Given the description of an element on the screen output the (x, y) to click on. 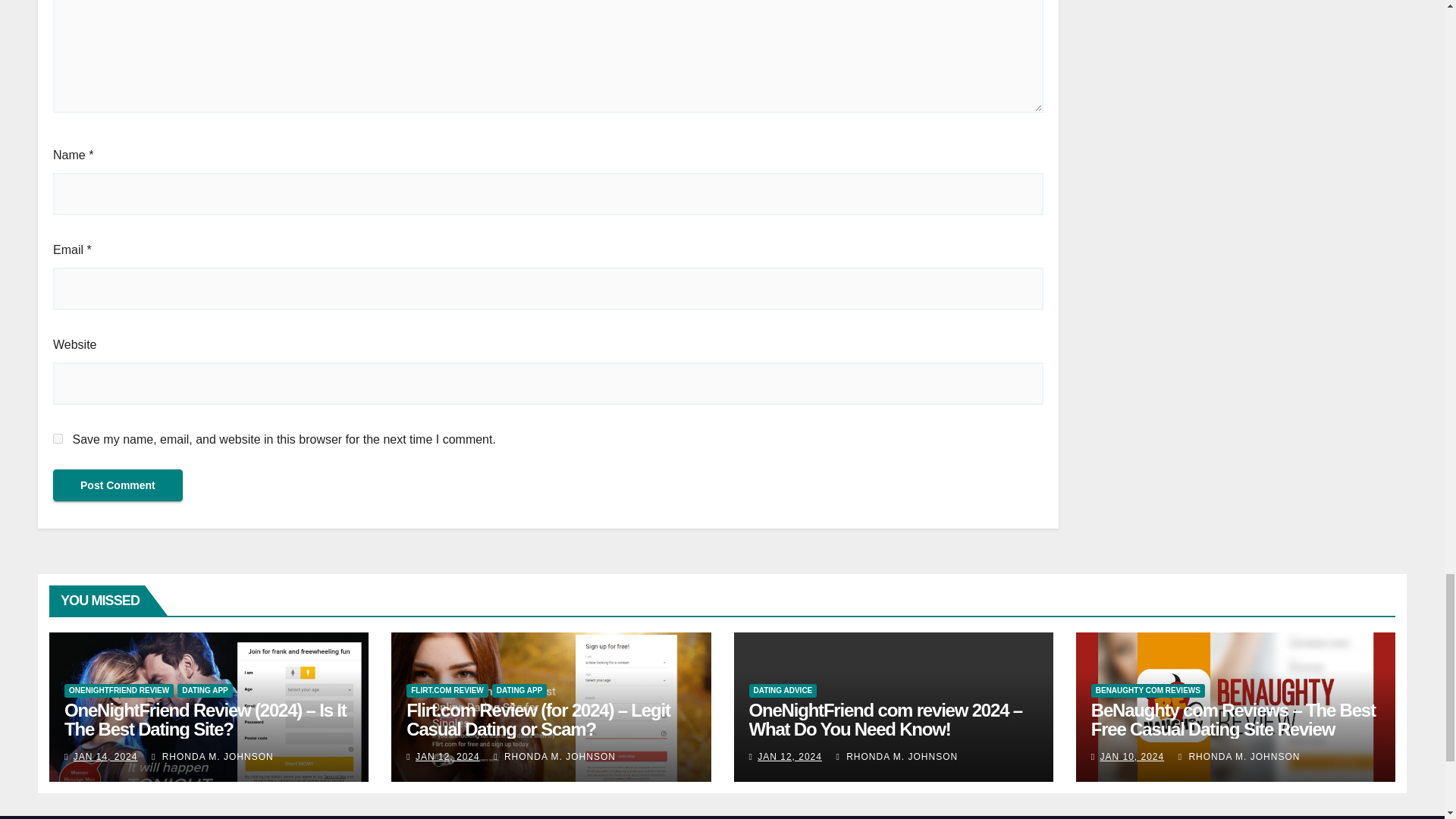
Post Comment (117, 485)
yes (57, 438)
